Given the description of an element on the screen output the (x, y) to click on. 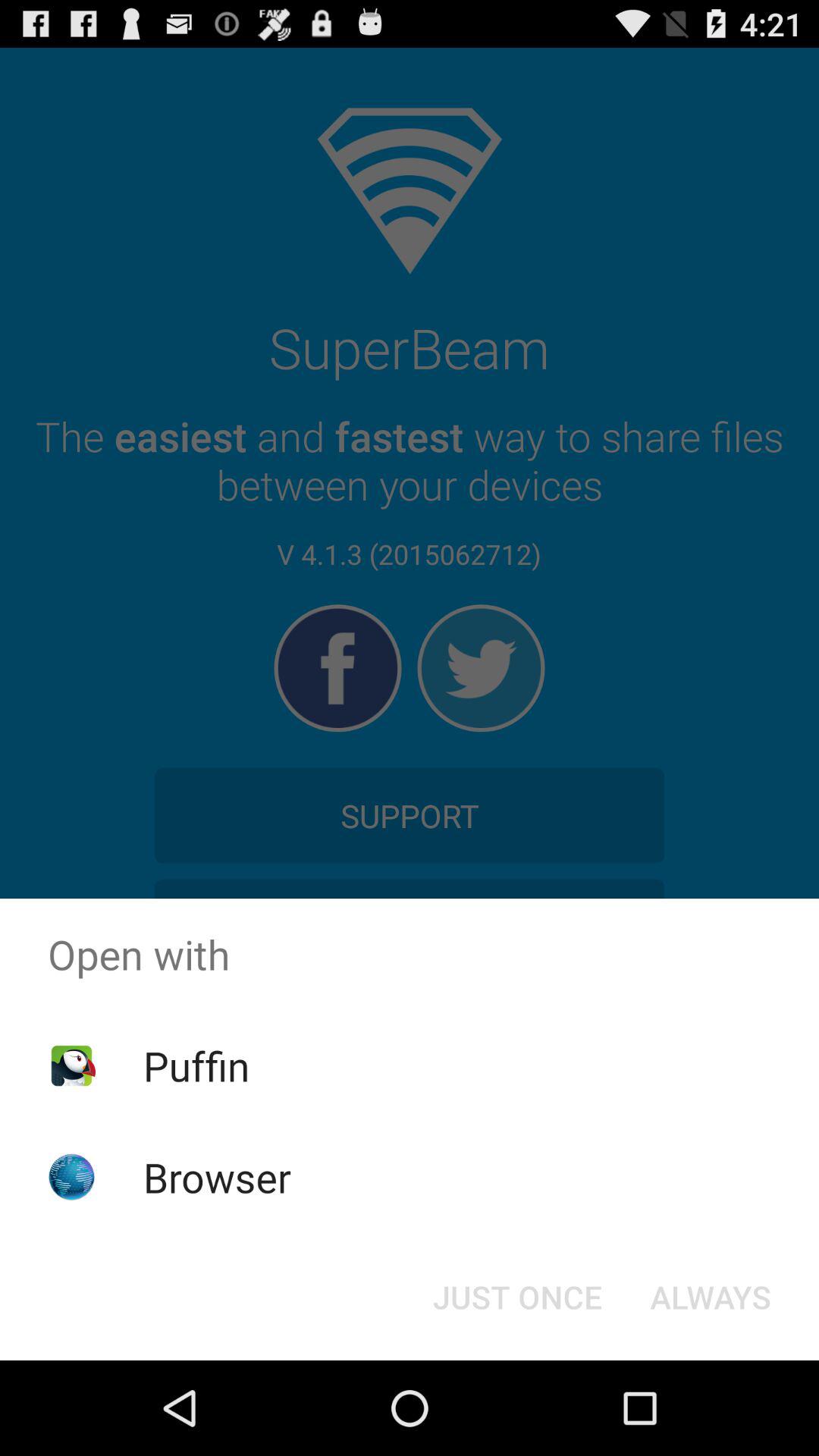
flip to just once item (517, 1296)
